Given the description of an element on the screen output the (x, y) to click on. 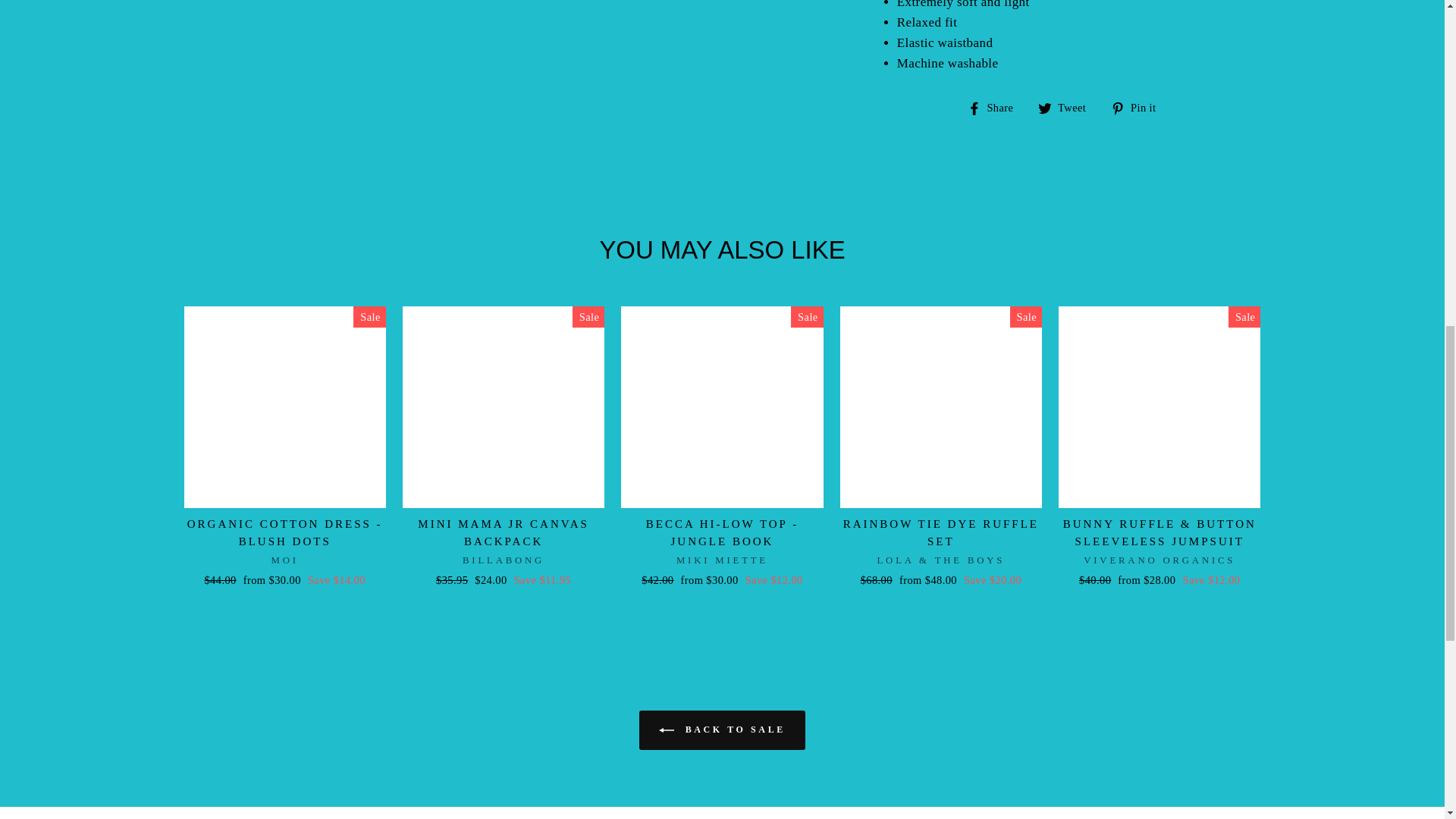
Share on Facebook (996, 106)
Pin on Pinterest (1138, 106)
Tweet on Twitter (1067, 106)
